Given the description of an element on the screen output the (x, y) to click on. 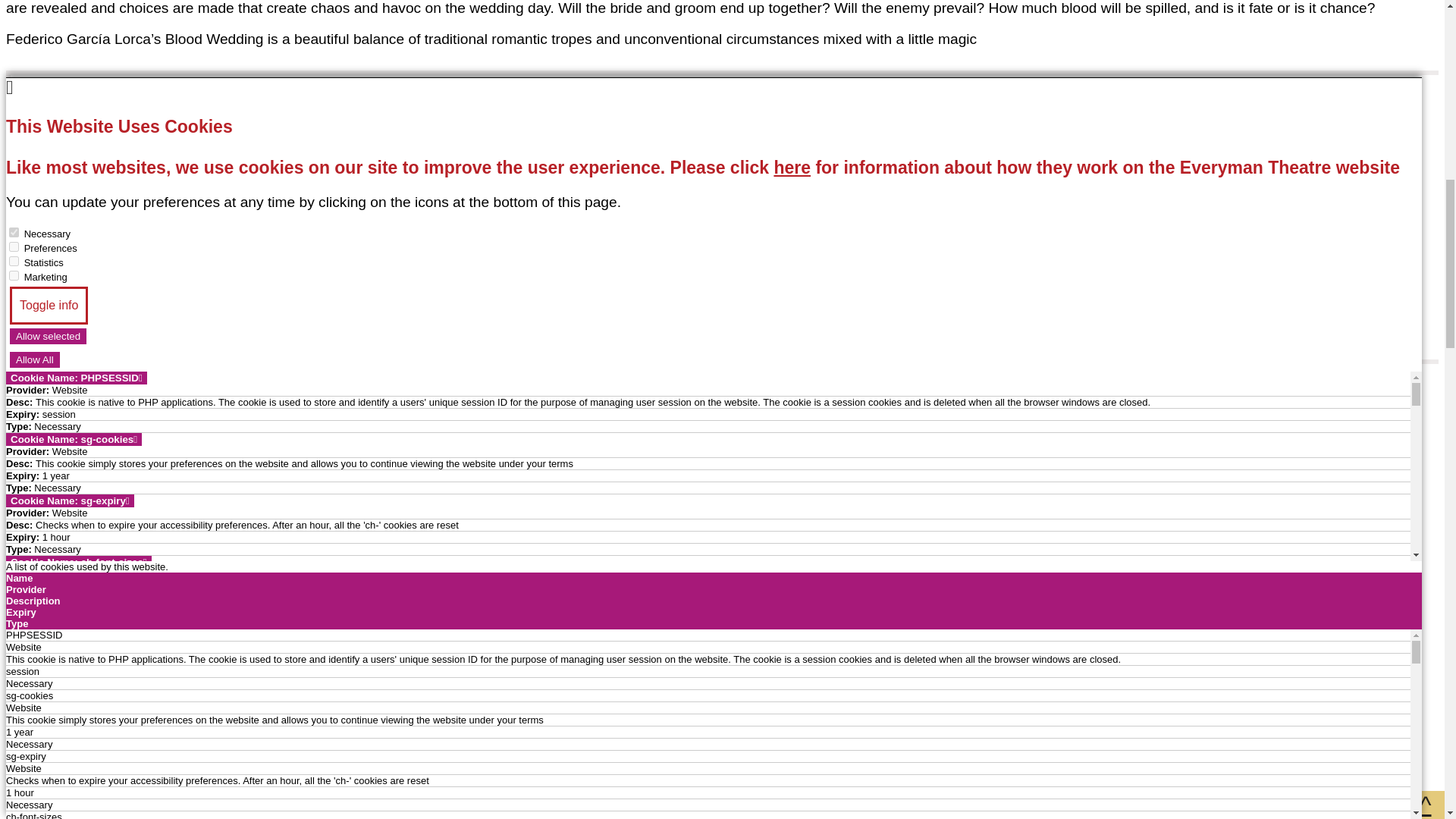
Blood Wedding Audition Form (130, 258)
Blood Wedding Audition Pack (129, 289)
